Given the description of an element on the screen output the (x, y) to click on. 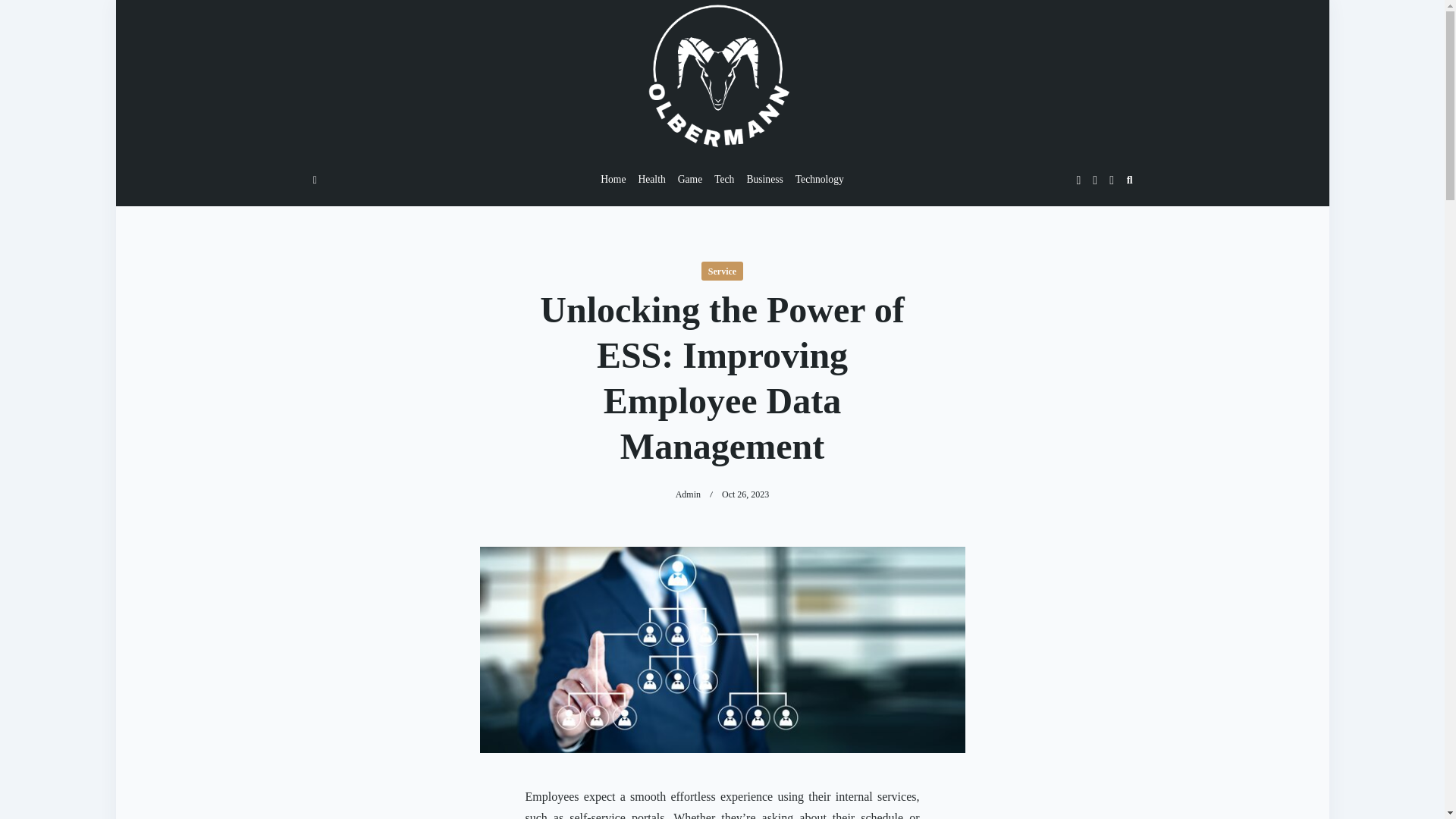
Technology (819, 180)
Business (764, 180)
